Given the description of an element on the screen output the (x, y) to click on. 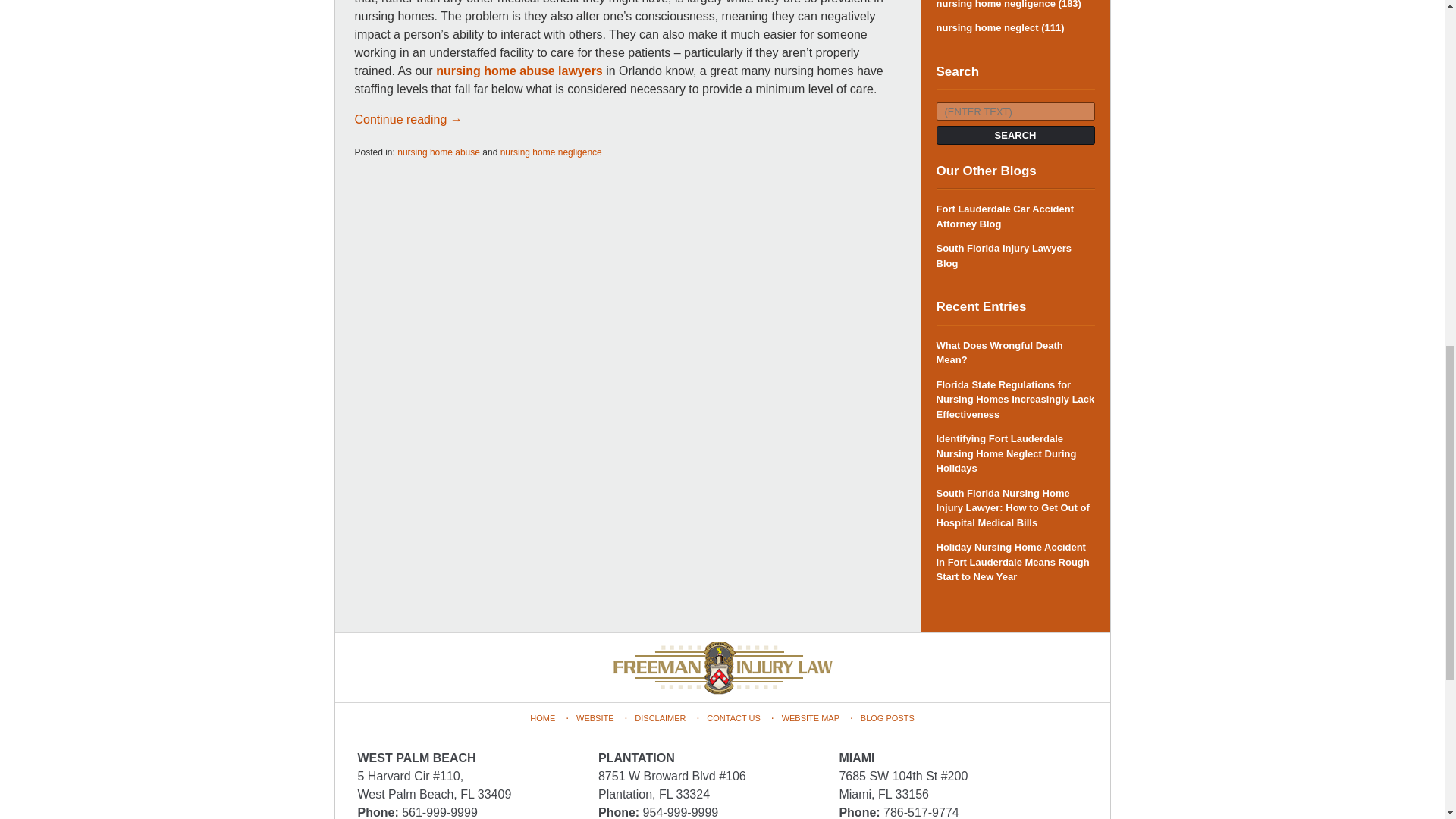
nursing home negligence (551, 152)
nursing home abuse (438, 152)
View all posts in nursing home abuse (438, 152)
nursing home abuse lawyers (518, 70)
View all posts in nursing home negligence (551, 152)
